Given the description of an element on the screen output the (x, y) to click on. 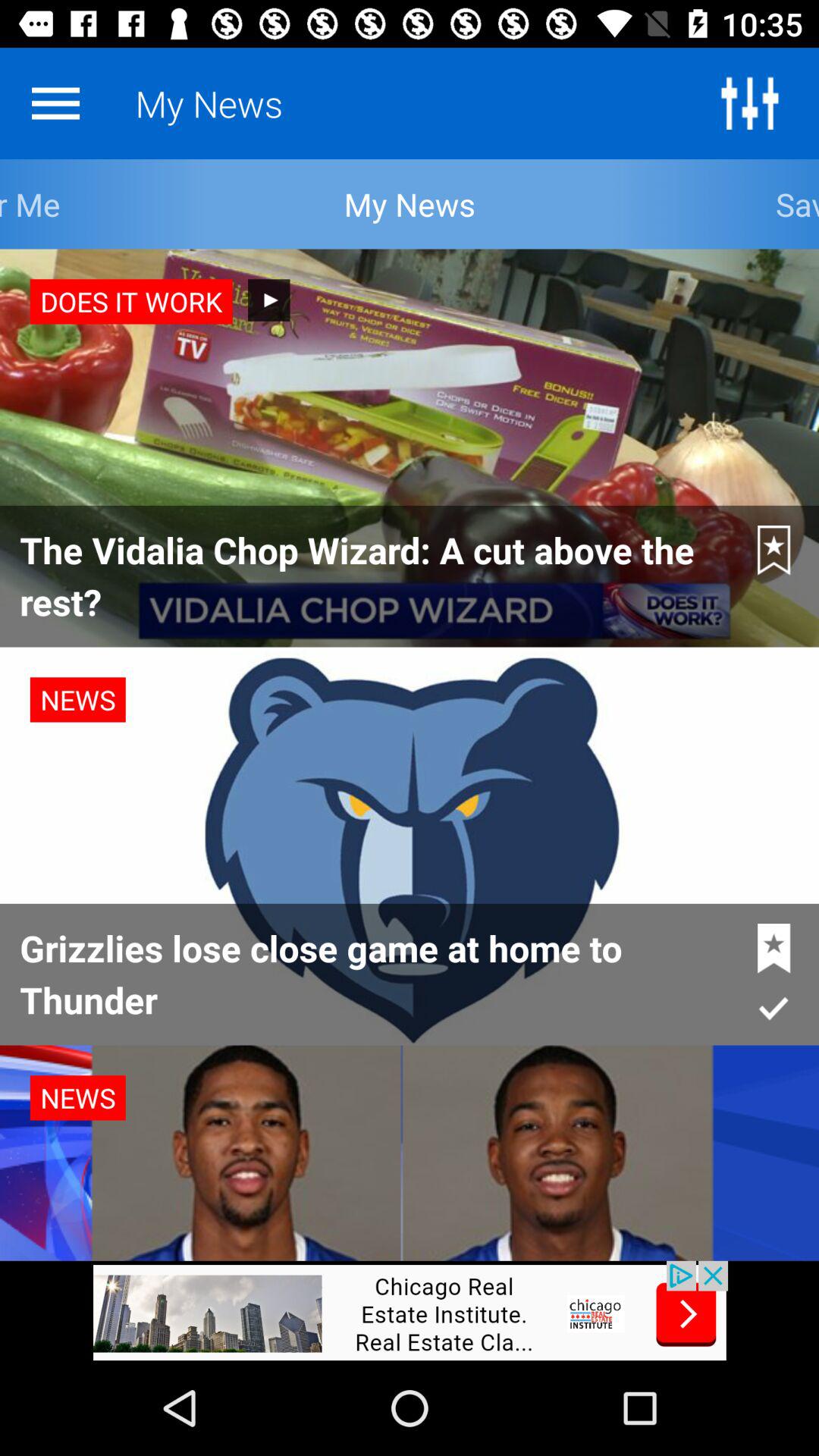
go to advertisement page (409, 1310)
